Given the description of an element on the screen output the (x, y) to click on. 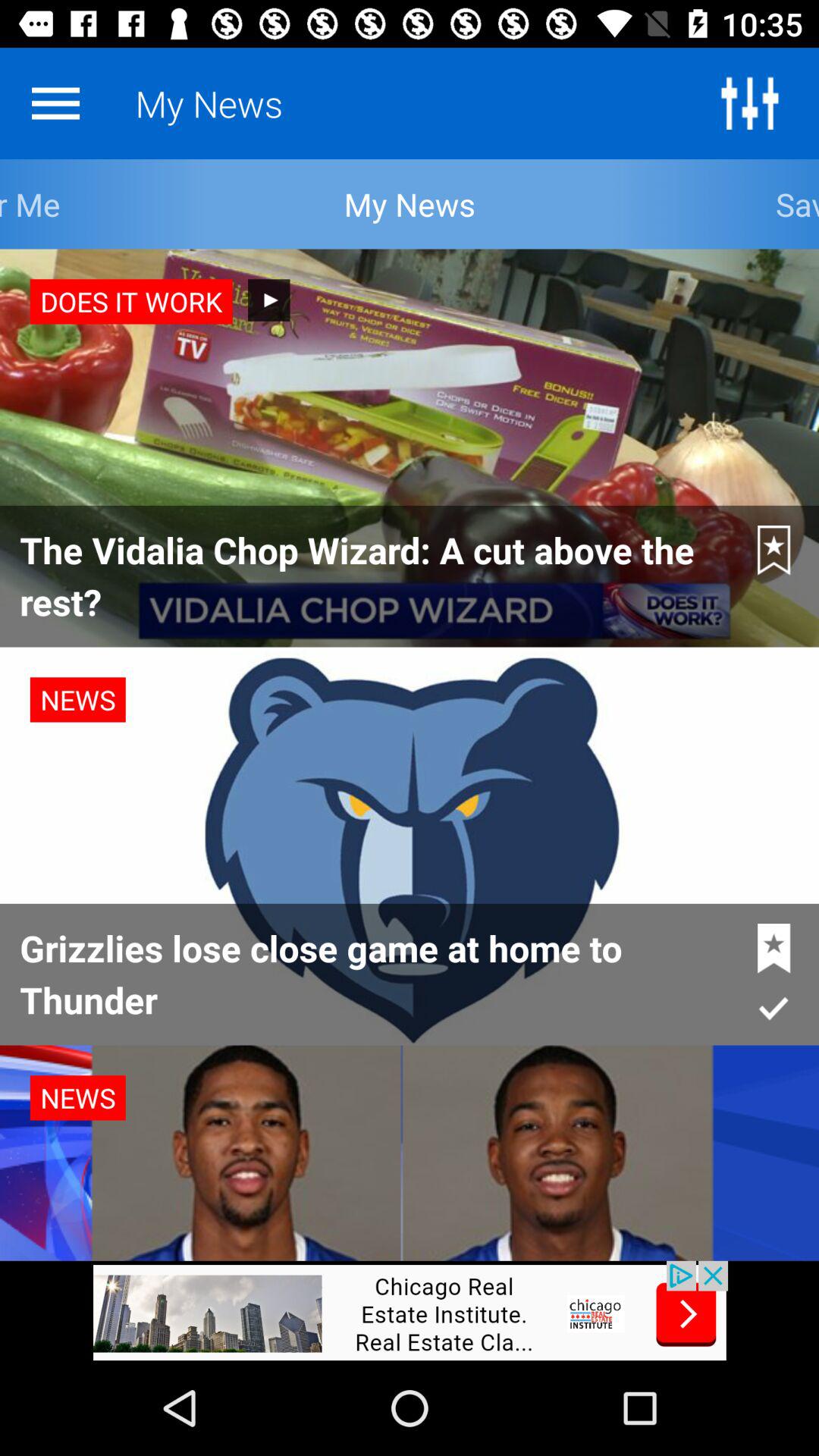
go to advertisement page (409, 1310)
